Given the description of an element on the screen output the (x, y) to click on. 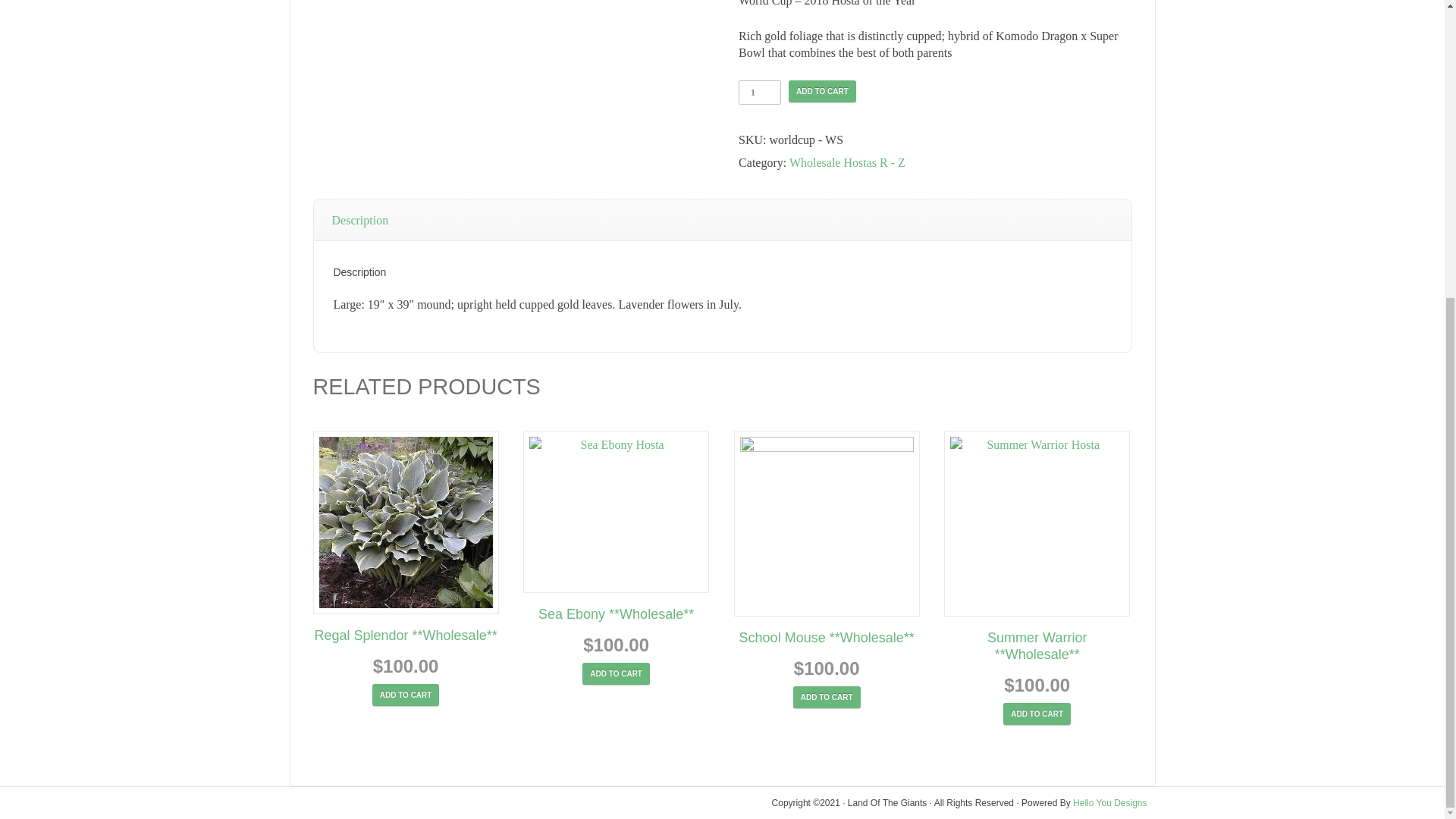
ADD TO CART (1036, 713)
ADD TO CART (826, 697)
Hello You Designs (1110, 802)
1 (759, 92)
Wholesale Hostas R - Z (847, 162)
Description (360, 219)
ADD TO CART (822, 91)
ADD TO CART (405, 694)
ADD TO CART (615, 673)
